Given the description of an element on the screen output the (x, y) to click on. 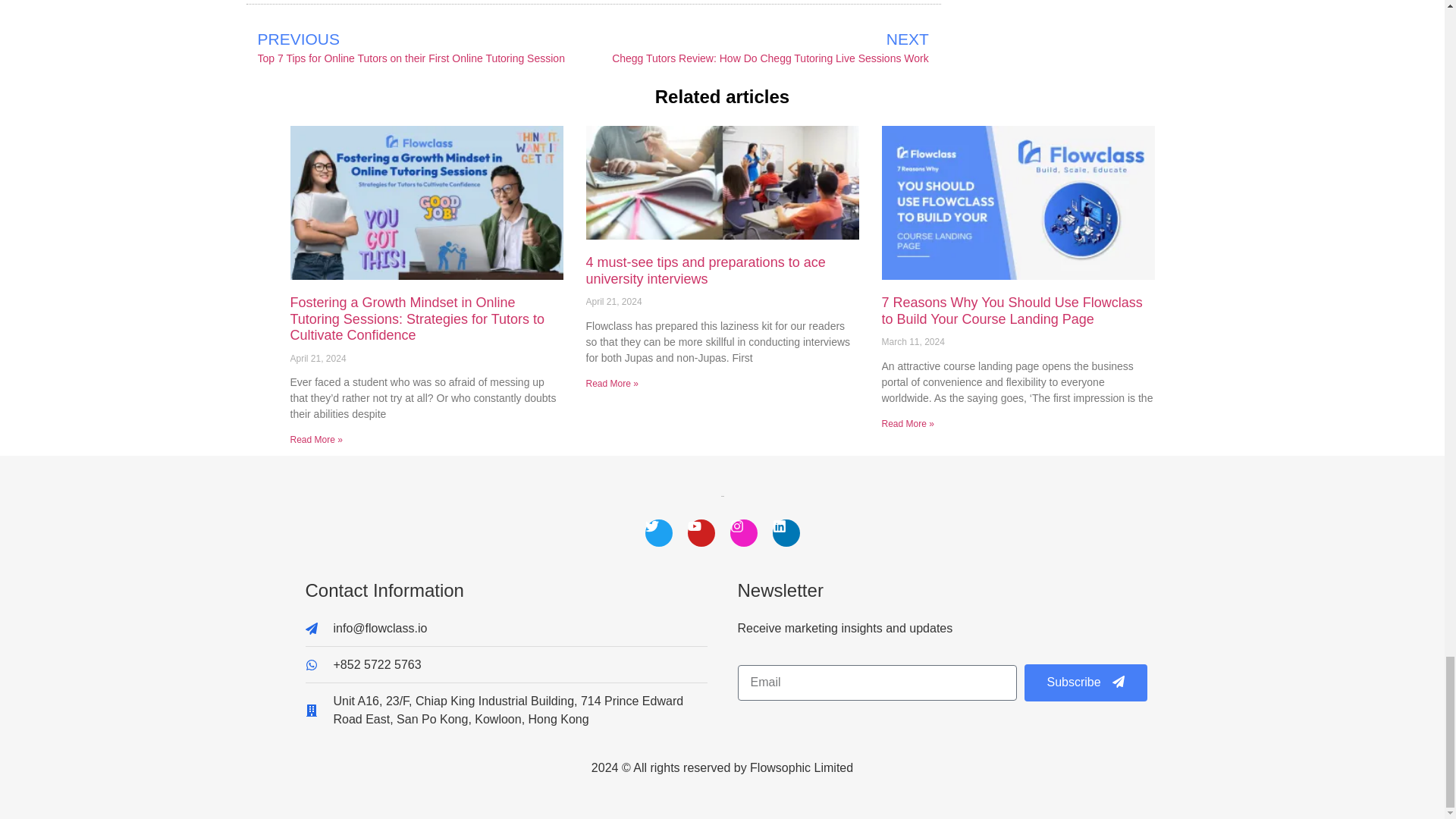
Subscribe (1085, 682)
